Given the description of an element on the screen output the (x, y) to click on. 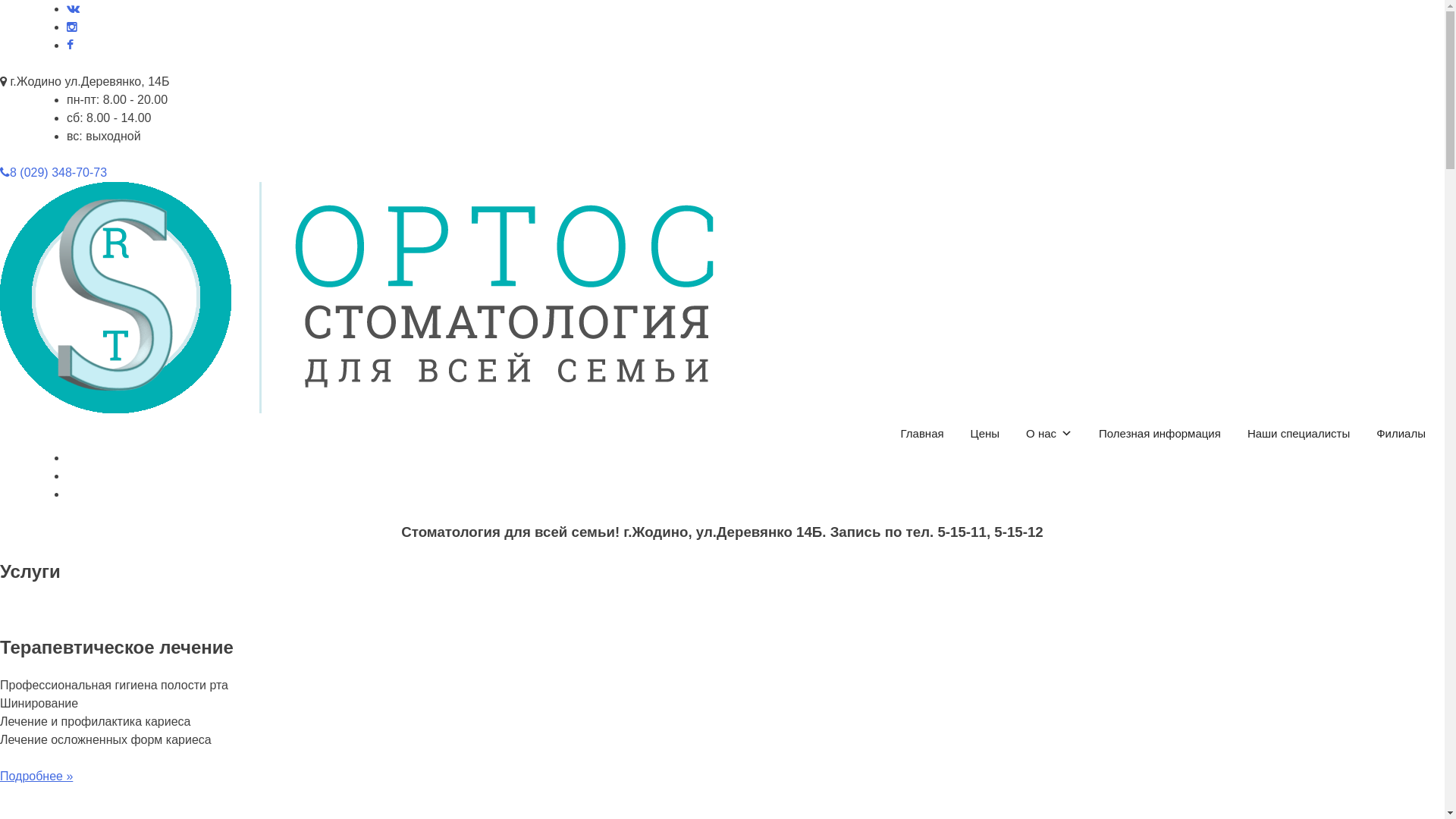
8 (029) 348-70-73 Element type: text (53, 172)
